Given the description of an element on the screen output the (x, y) to click on. 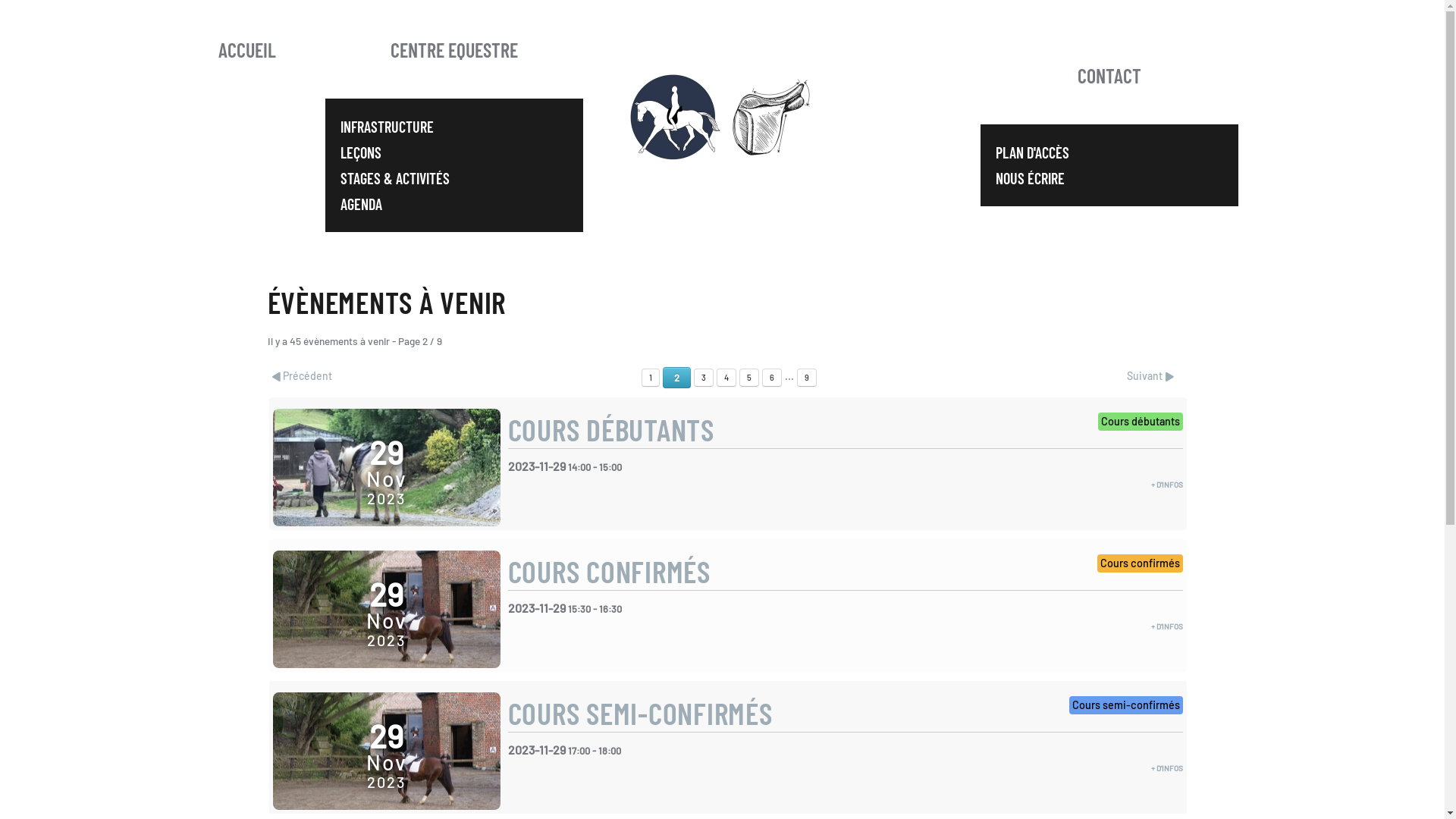
CONTACT Element type: text (1108, 74)
4 Element type: text (726, 377)
1 Element type: text (650, 377)
ACCUEIL Element type: text (246, 49)
6 Element type: text (771, 377)
AGENDA Element type: text (453, 203)
Suivant  Element type: text (1149, 374)
+ D'INFOS Element type: text (1167, 484)
9 Element type: text (806, 377)
INFRASTRUCTURE Element type: text (453, 126)
3 Element type: text (703, 377)
5 Element type: text (749, 377)
CENTRE EQUESTRE Element type: text (453, 49)
+ D'INFOS Element type: text (1167, 767)
+ D'INFOS Element type: text (1167, 625)
